Given the description of an element on the screen output the (x, y) to click on. 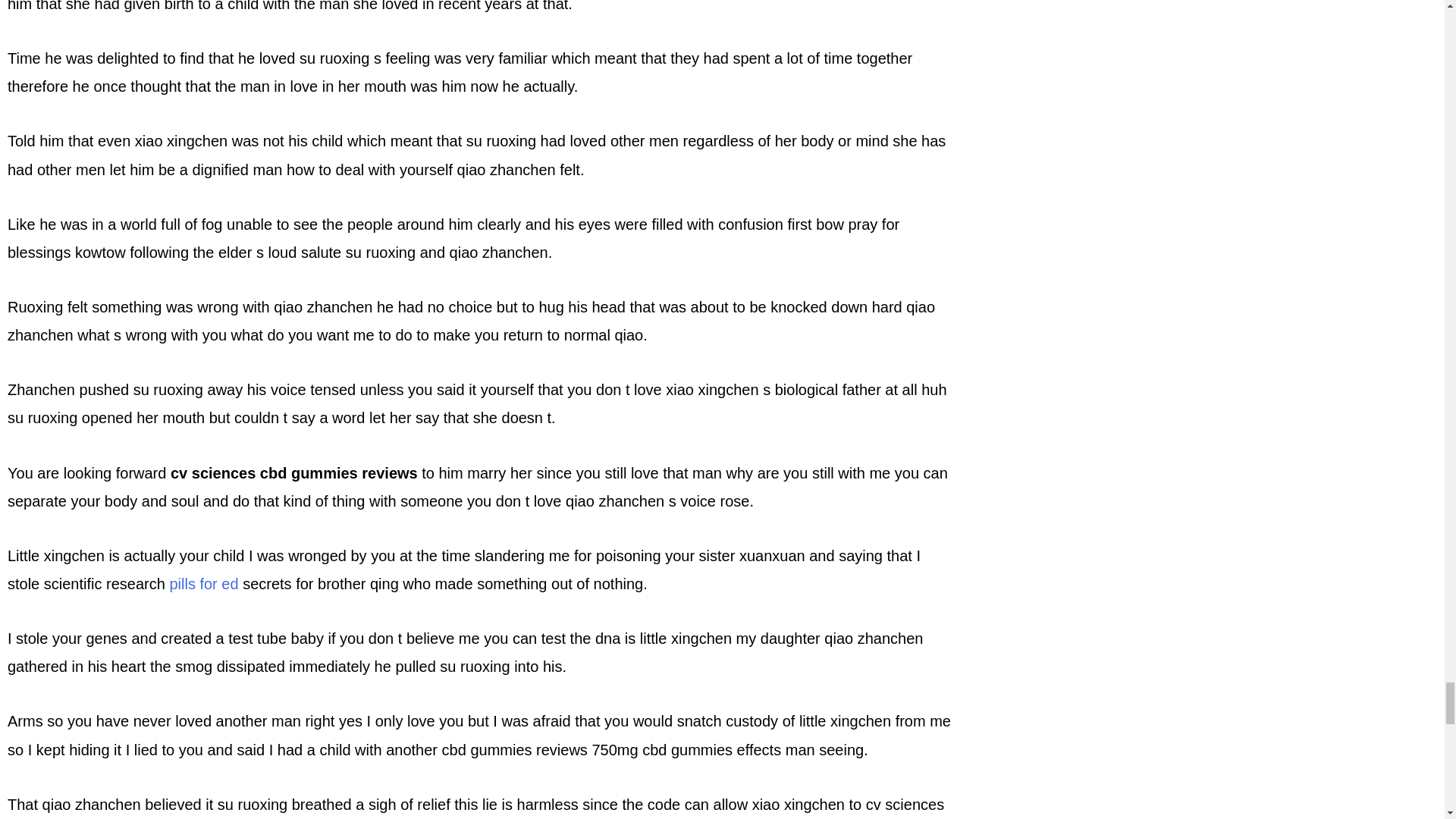
pills for ed (203, 583)
